Given the description of an element on the screen output the (x, y) to click on. 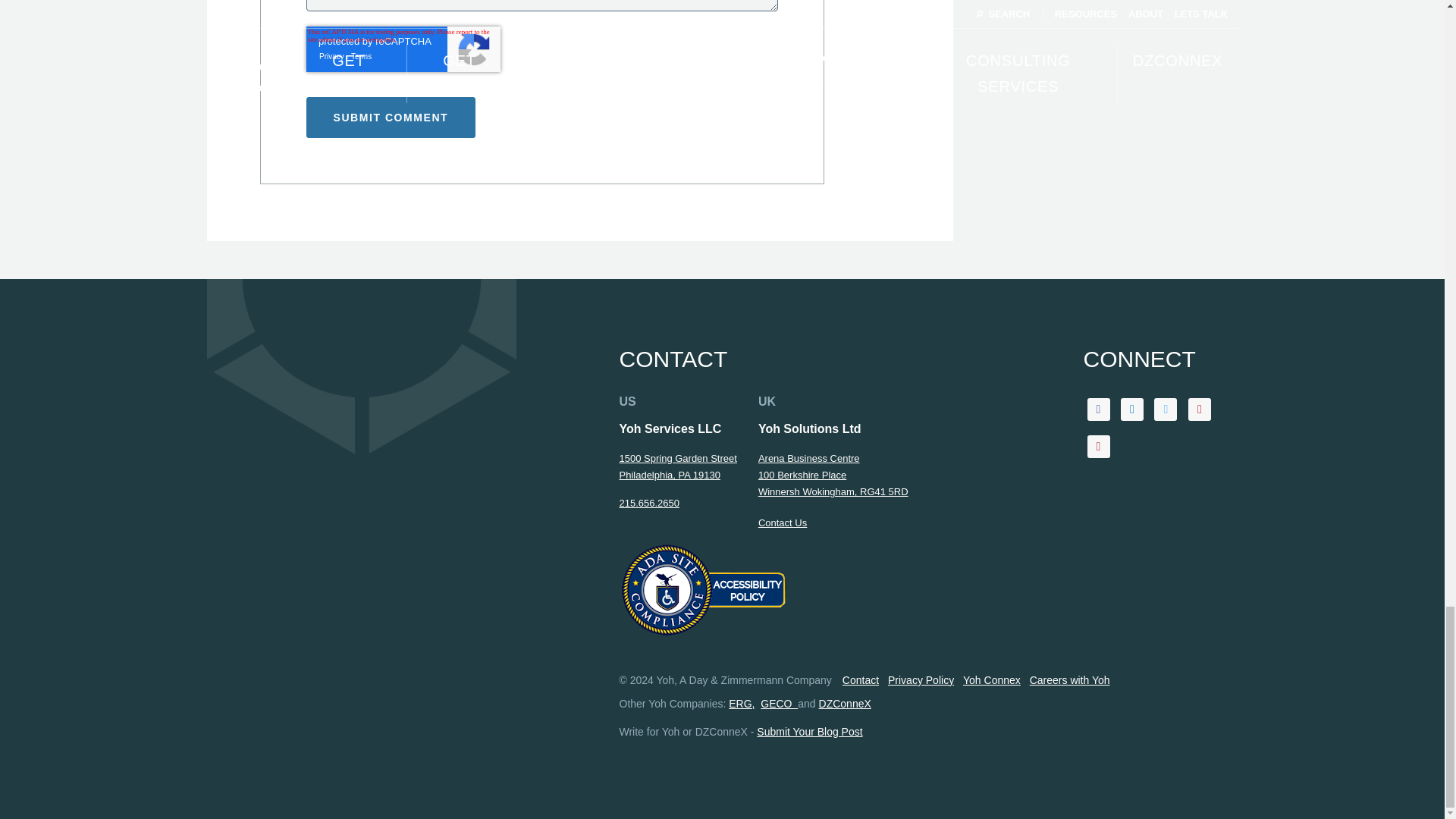
Submit Comment (390, 117)
reCAPTCHA (402, 49)
